Given the description of an element on the screen output the (x, y) to click on. 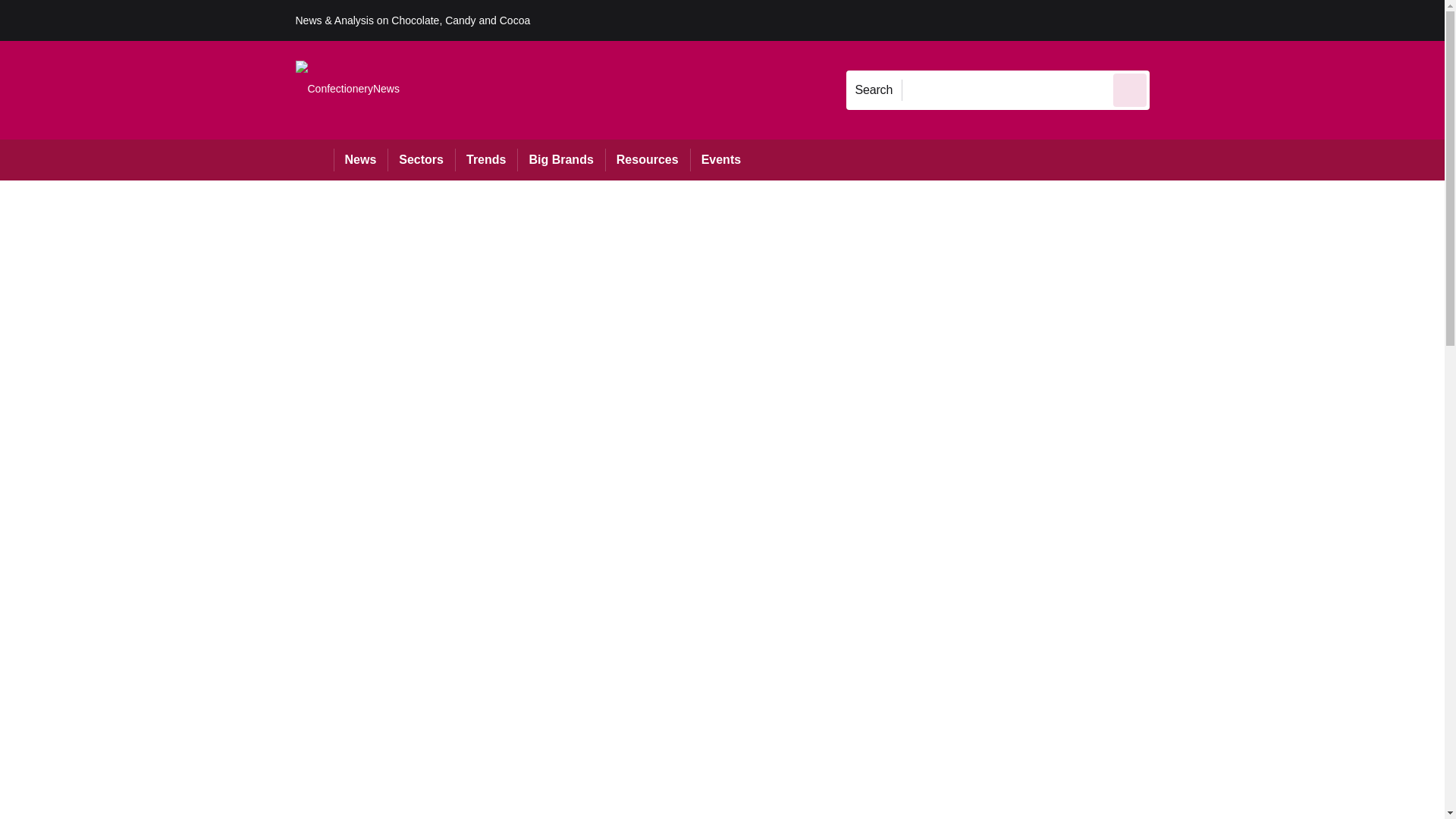
My account (1256, 20)
Trends (485, 159)
Home (314, 159)
News (360, 159)
Send (1129, 90)
Home (313, 159)
REGISTER (1250, 20)
Sign in (1171, 20)
Sectors (420, 159)
ConfectioneryNews (346, 89)
